Given the description of an element on the screen output the (x, y) to click on. 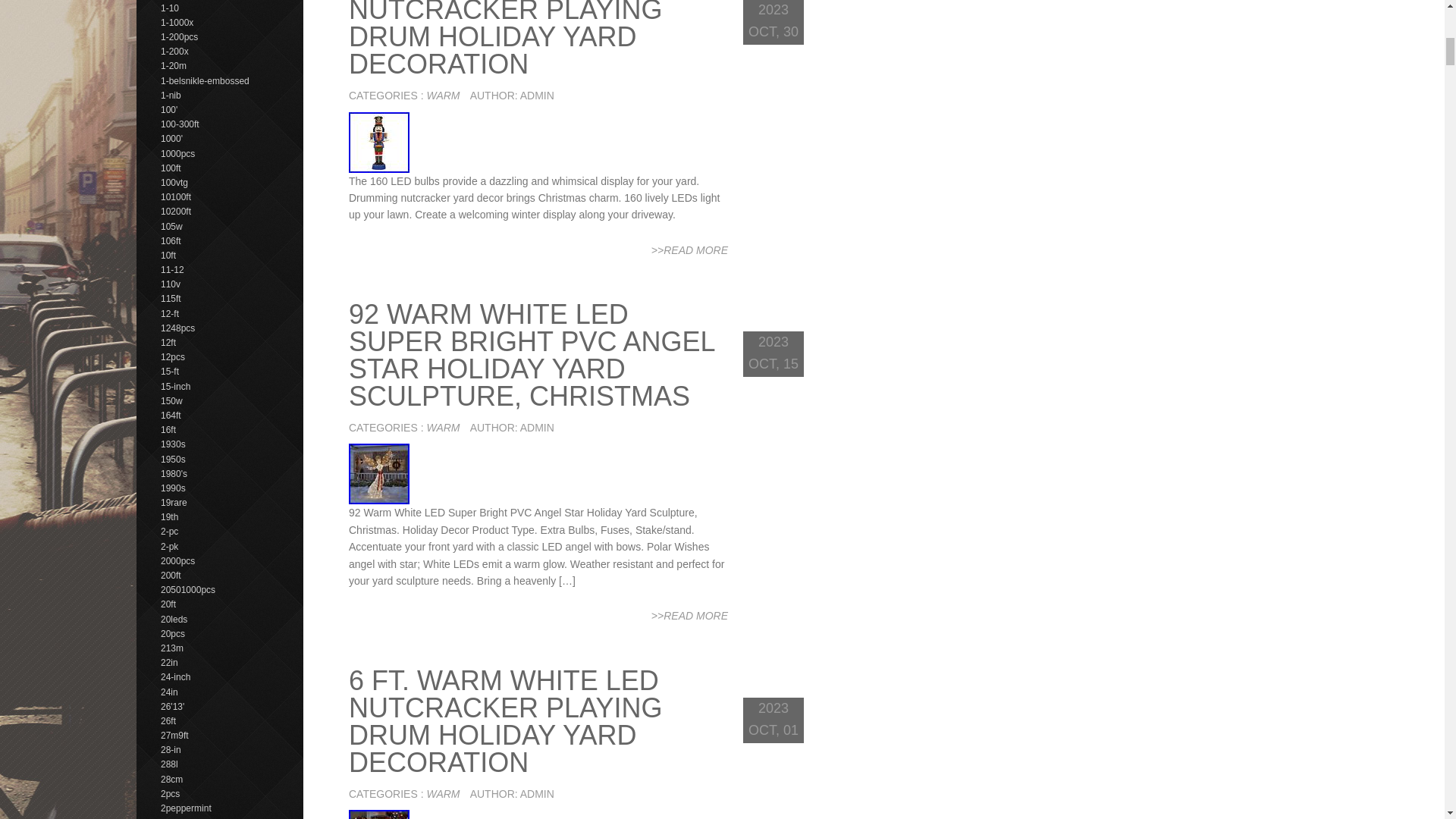
WARM (443, 427)
WARM (443, 95)
WARM (443, 793)
